Given the description of an element on the screen output the (x, y) to click on. 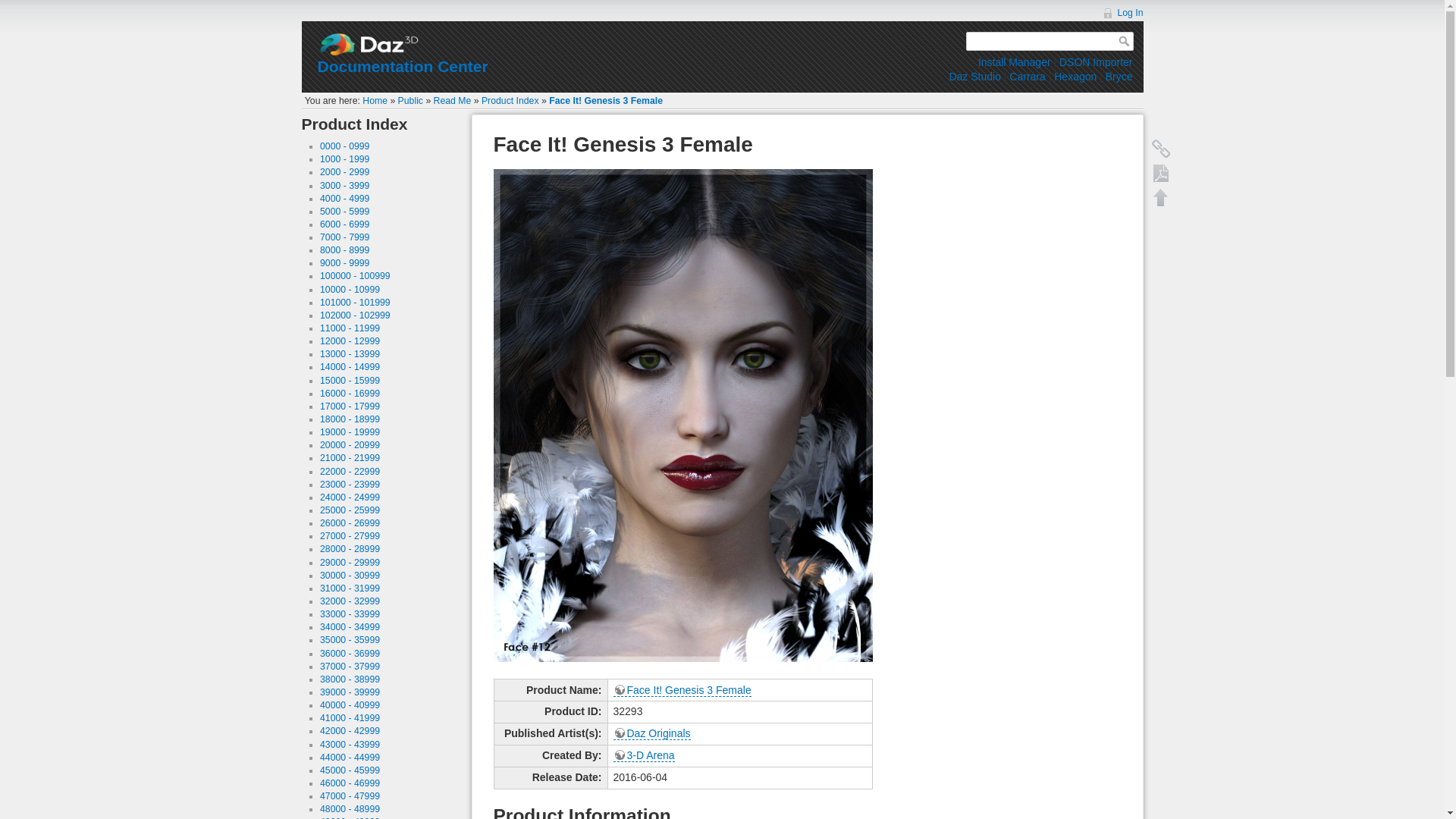
public:software:bryce:start (1118, 76)
start (374, 100)
public:software:hexagon:start (1075, 76)
5000 - 5999 (344, 211)
9000 - 9999 (344, 262)
14000 - 14999 (350, 366)
Log In (1122, 12)
4000 - 4999 (344, 198)
Home (374, 100)
Search (1125, 40)
